Given the description of an element on the screen output the (x, y) to click on. 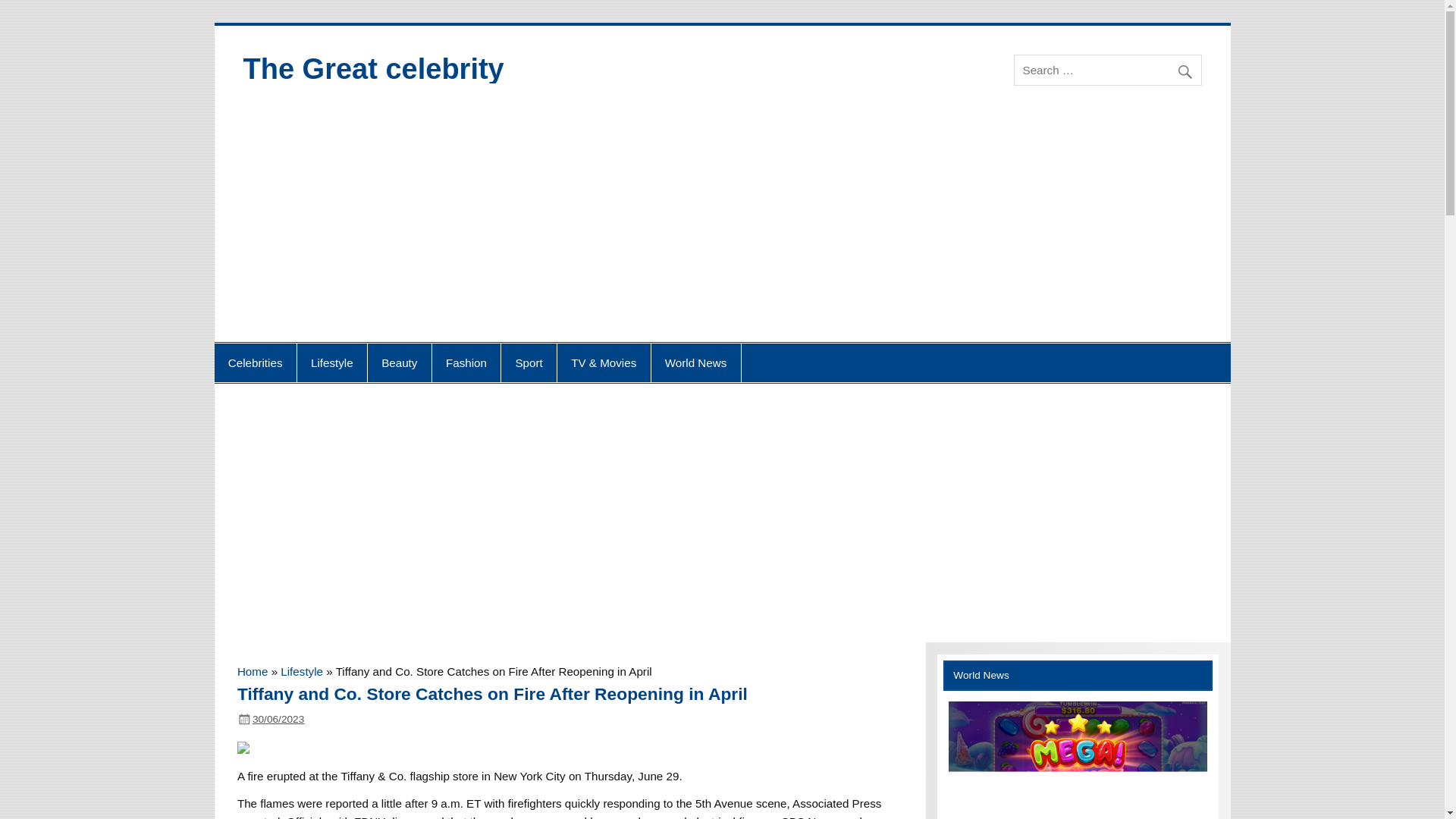
Sport (528, 363)
The Great celebrity (373, 69)
World News (695, 363)
13:22 (277, 718)
Beauty (399, 363)
Home (252, 671)
Lifestyle (331, 363)
Celebrities (254, 363)
Lifestyle (302, 671)
Fashion (466, 363)
The Guide to Winning Big in Sweet Bonanza Online Slot (1078, 760)
